Given the description of an element on the screen output the (x, y) to click on. 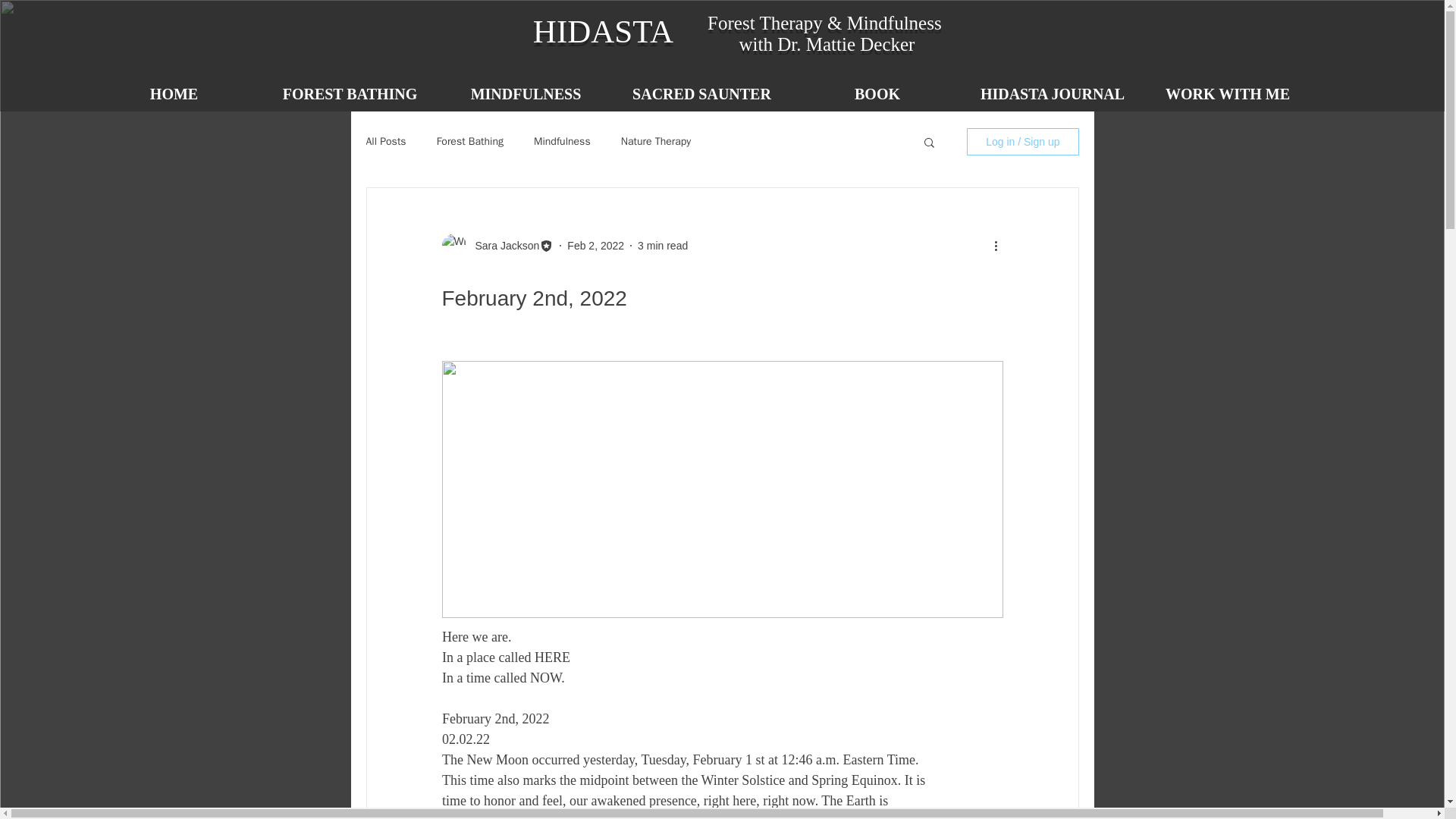
Mindfulness (562, 141)
FOREST BATHING (350, 93)
HOME (173, 93)
Sara Jackson (501, 245)
HIDASTA JOURNAL (1051, 93)
SACRED SAUNTER (702, 93)
All Posts (385, 141)
3 min read (662, 245)
Feb 2, 2022 (595, 245)
Forest Bathing (469, 141)
Nature Therapy (656, 141)
BOOK (877, 93)
WORK WITH ME (1228, 93)
MINDFULNESS (526, 93)
